Given the description of an element on the screen output the (x, y) to click on. 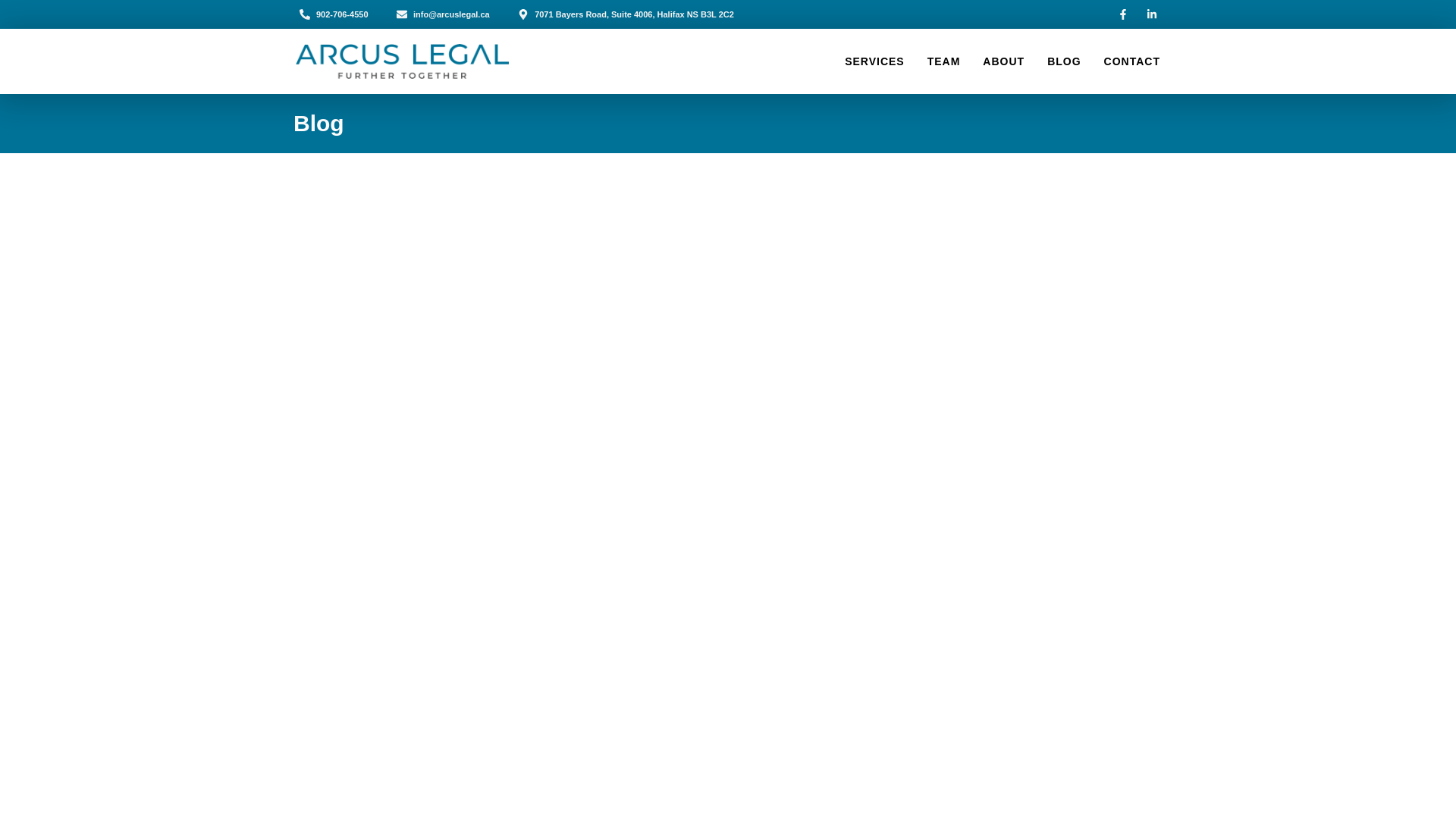
TEAM (943, 61)
ABOUT (1003, 61)
BLOG (1063, 61)
SERVICES (874, 61)
Blog (318, 122)
CONTACT (1131, 61)
7071 Bayers Road, Suite 4006, Halifax NS B3L 2C2 (625, 14)
